Given the description of an element on the screen output the (x, y) to click on. 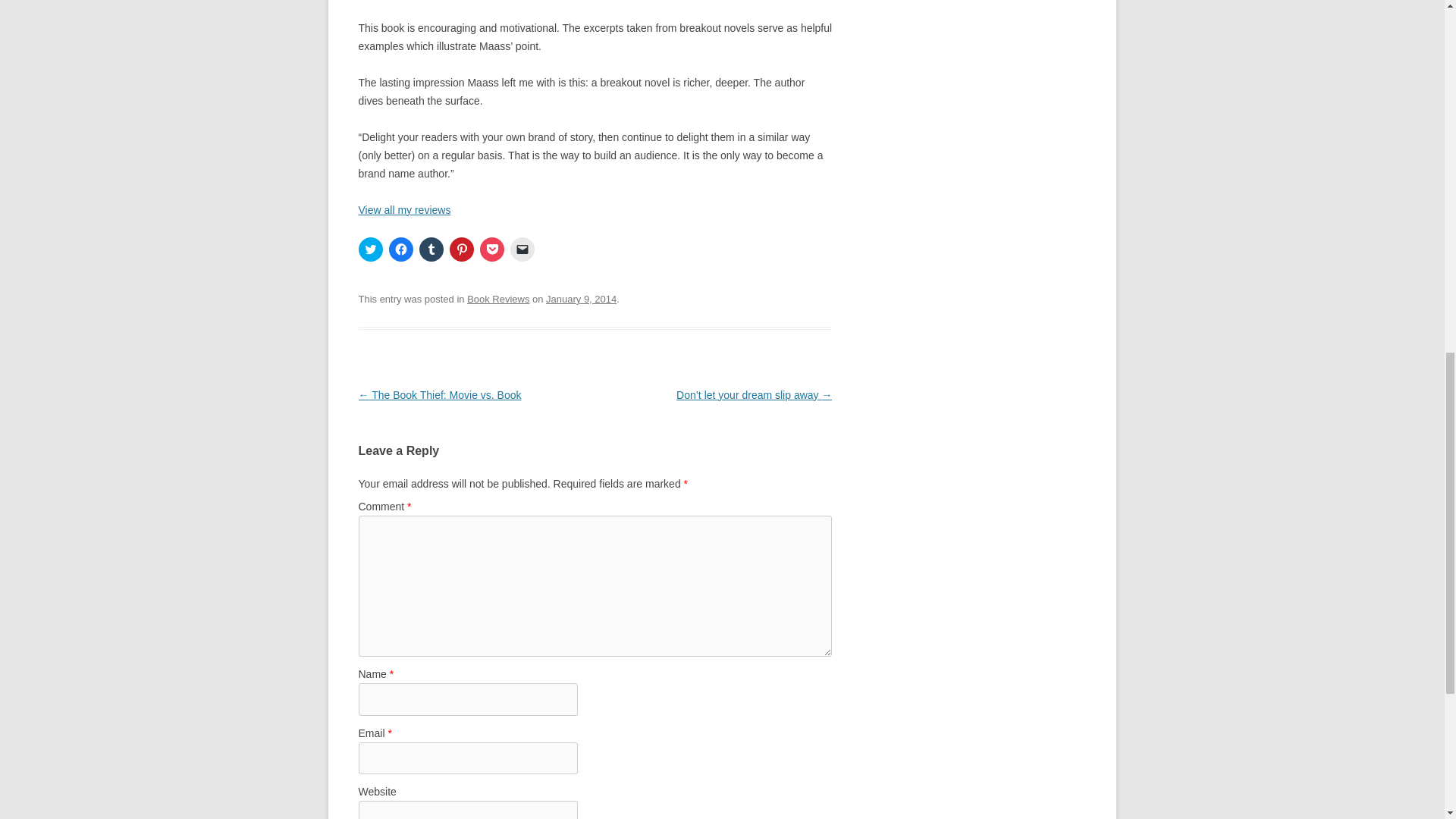
Click to email a link to a friend (521, 249)
Click to share on Pinterest (460, 249)
Book Reviews (498, 298)
January 9, 2014 (580, 298)
6:00 am (580, 298)
Click to share on Pocket (491, 249)
Click to share on Twitter (369, 249)
Click to share on Tumblr (430, 249)
Click to share on Facebook (400, 249)
View all my reviews (403, 209)
